Given the description of an element on the screen output the (x, y) to click on. 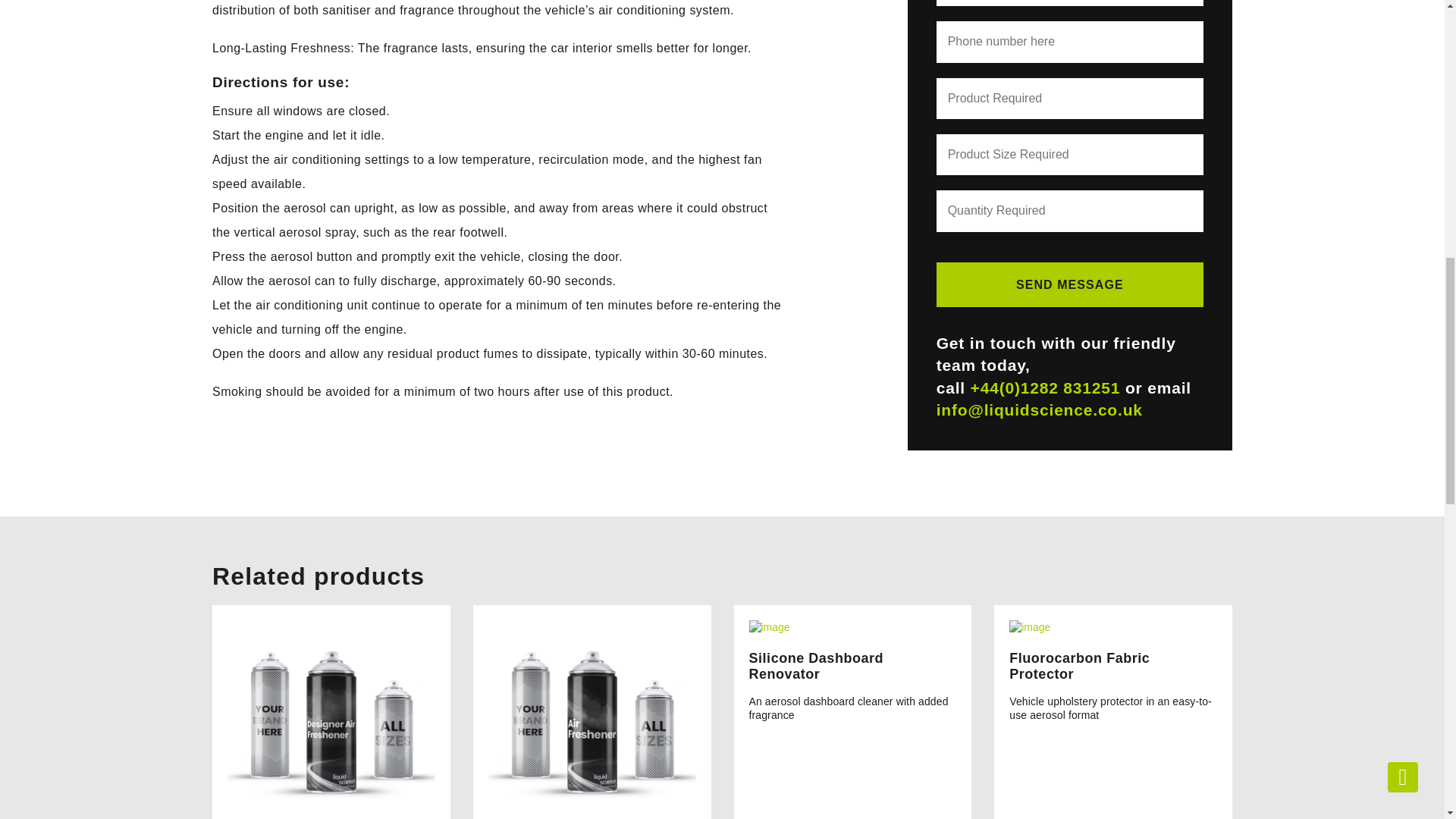
SEND MESSAGE (1070, 284)
SEND MESSAGE (1070, 284)
